Given the description of an element on the screen output the (x, y) to click on. 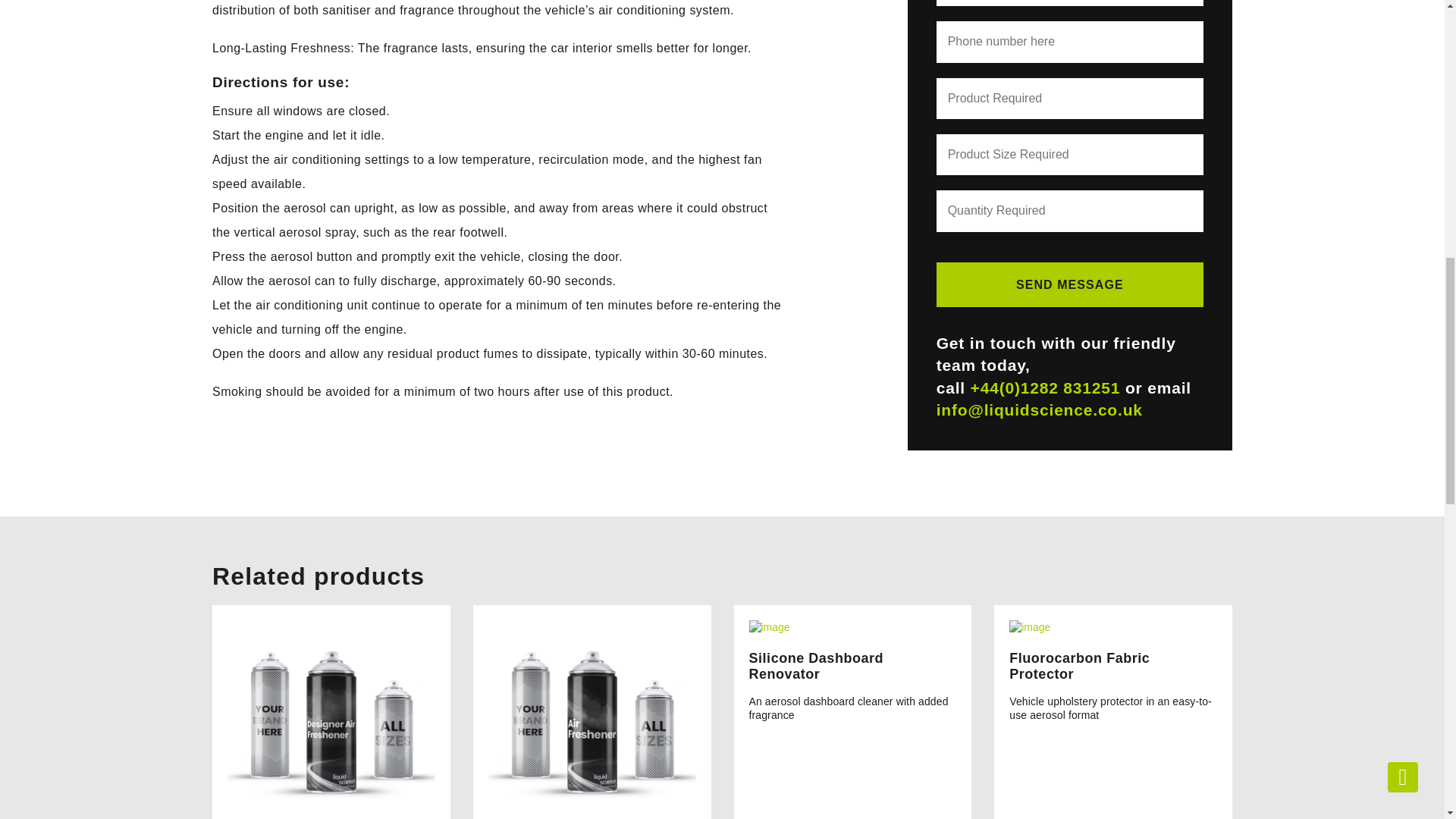
SEND MESSAGE (1070, 284)
SEND MESSAGE (1070, 284)
